Given the description of an element on the screen output the (x, y) to click on. 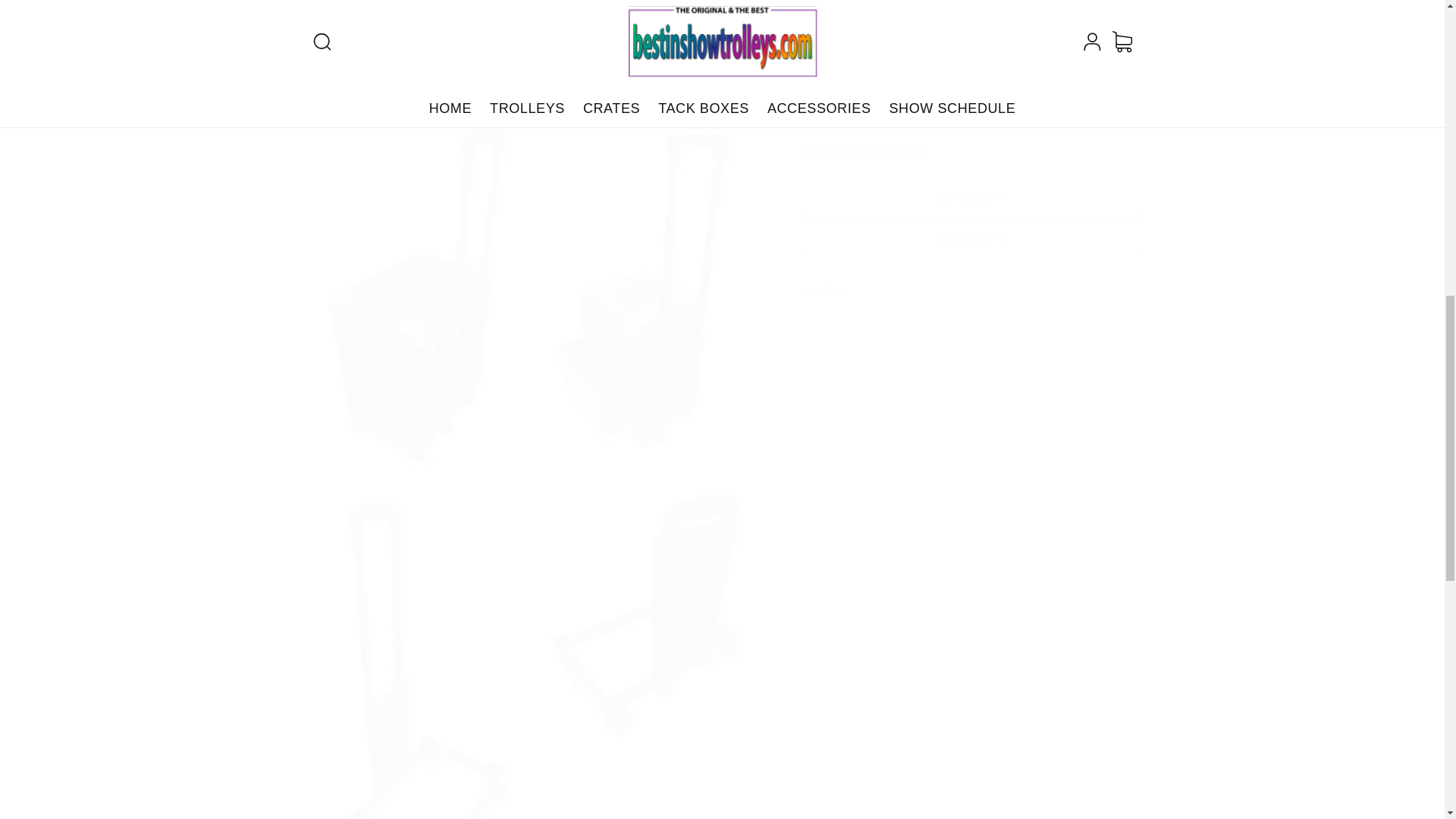
Open media in modal (533, 53)
